Given the description of an element on the screen output the (x, y) to click on. 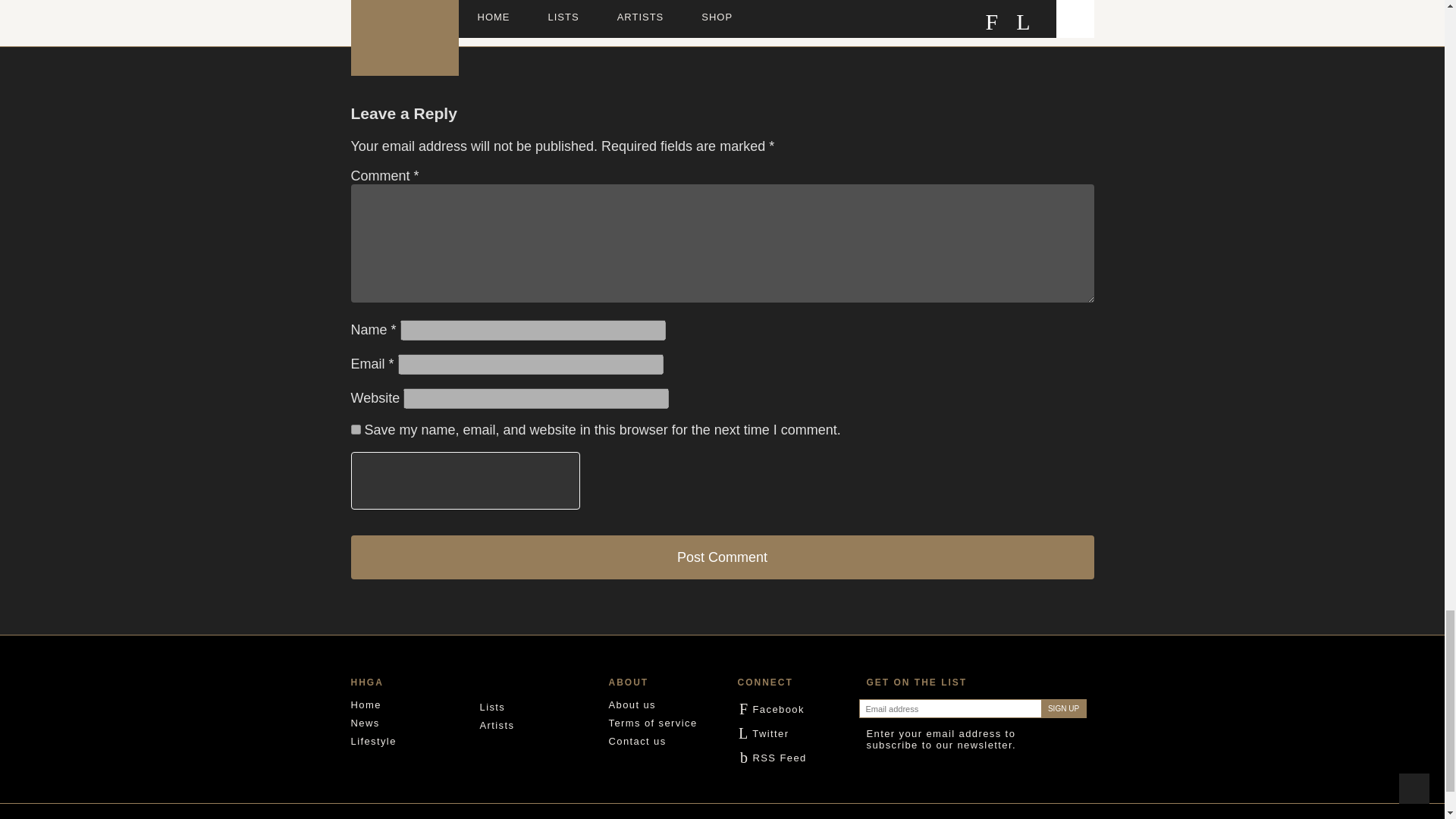
Post Comment (721, 557)
Sign up (1063, 708)
Lifestyle (373, 740)
Lists (492, 706)
Home (365, 704)
yes (354, 429)
Post Comment (721, 557)
News (364, 722)
